Given the description of an element on the screen output the (x, y) to click on. 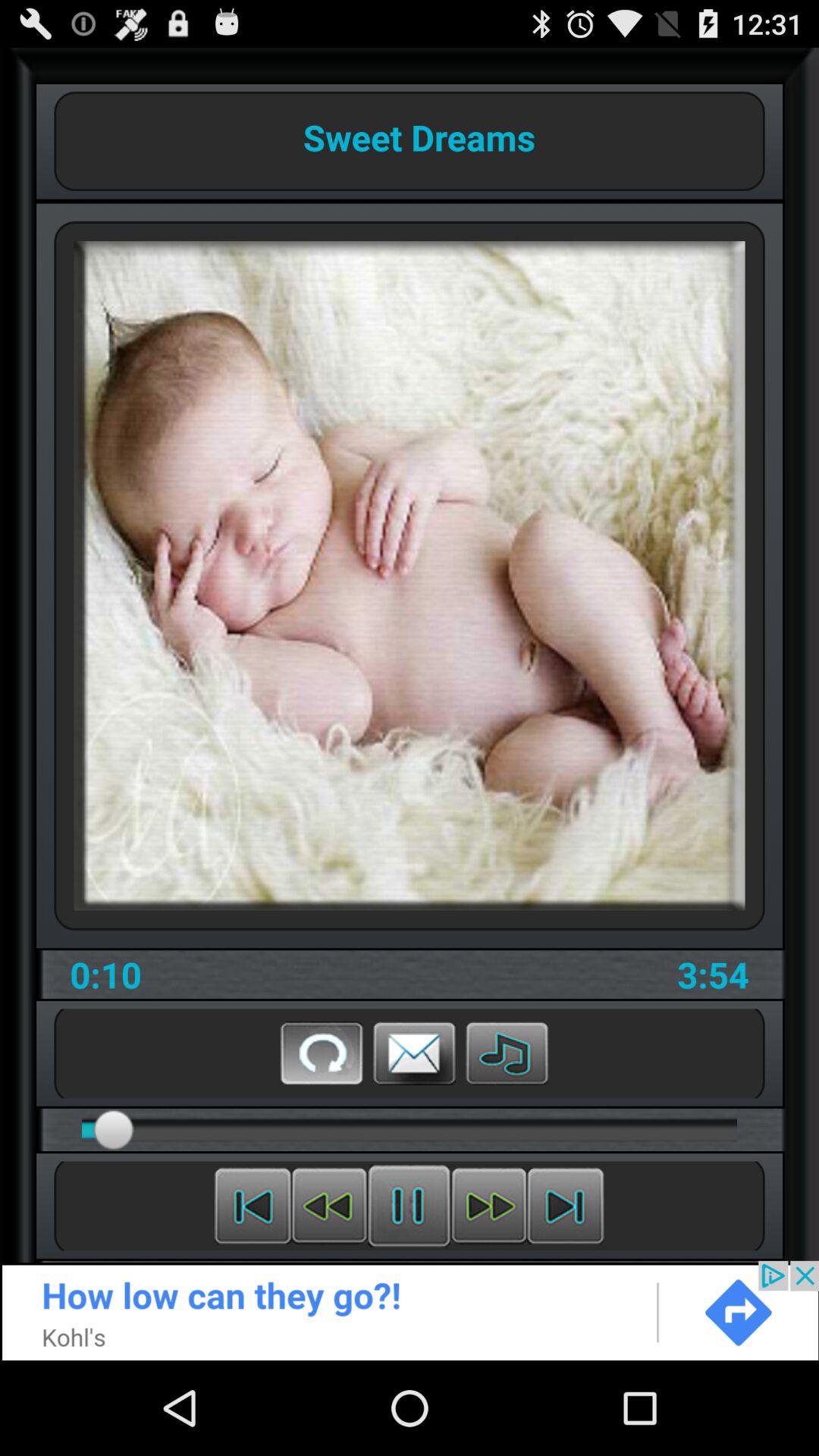
musci go back button (329, 1205)
